Given the description of an element on the screen output the (x, y) to click on. 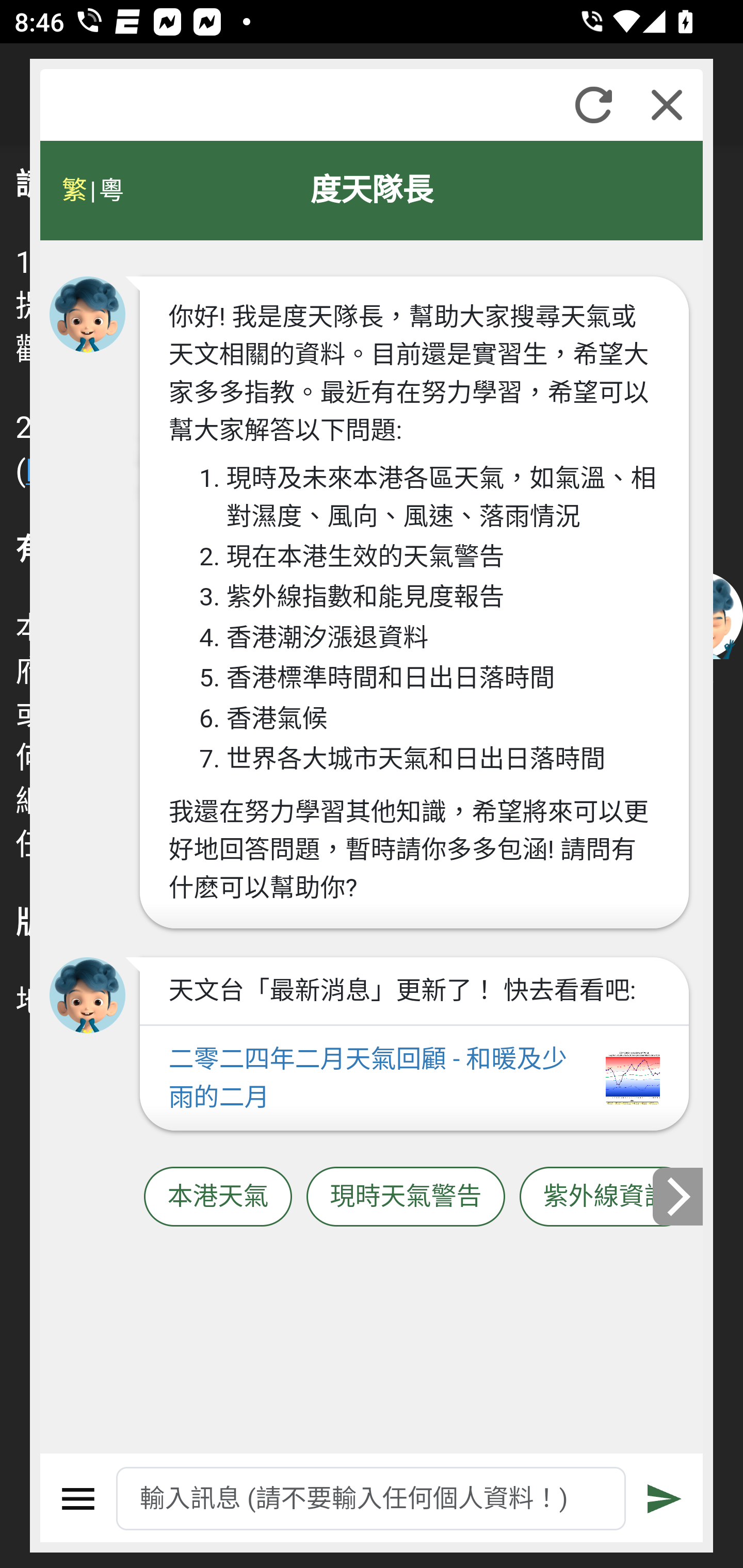
重新整理 (593, 104)
關閉 (666, 104)
繁 (73, 190)
粵 (110, 190)
二零二四年二月天氣回顧 - 和暖及少雨的二月 (413, 1078)
本港天氣 (217, 1196)
現時天氣警告 (405, 1196)
紫外線資訊 (605, 1196)
下一張 (678, 1196)
選單 (78, 1498)
遞交 (665, 1498)
